Given the description of an element on the screen output the (x, y) to click on. 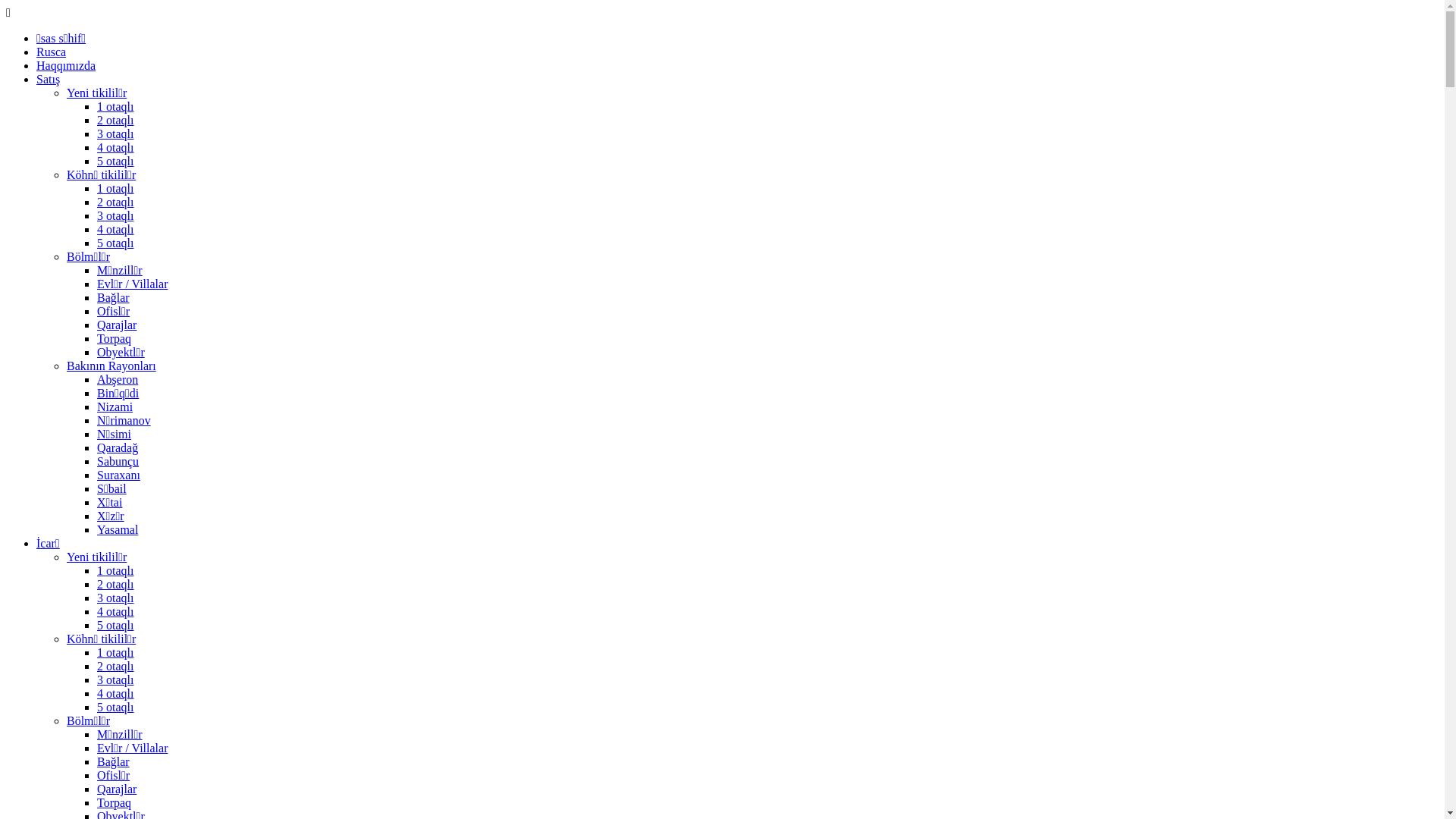
Yasamal Element type: text (117, 529)
Qarajlar Element type: text (116, 788)
Nizami Element type: text (114, 406)
Torpaq Element type: text (114, 338)
Rusca Element type: text (50, 51)
Torpaq Element type: text (114, 802)
Qarajlar Element type: text (116, 324)
